Given the description of an element on the screen output the (x, y) to click on. 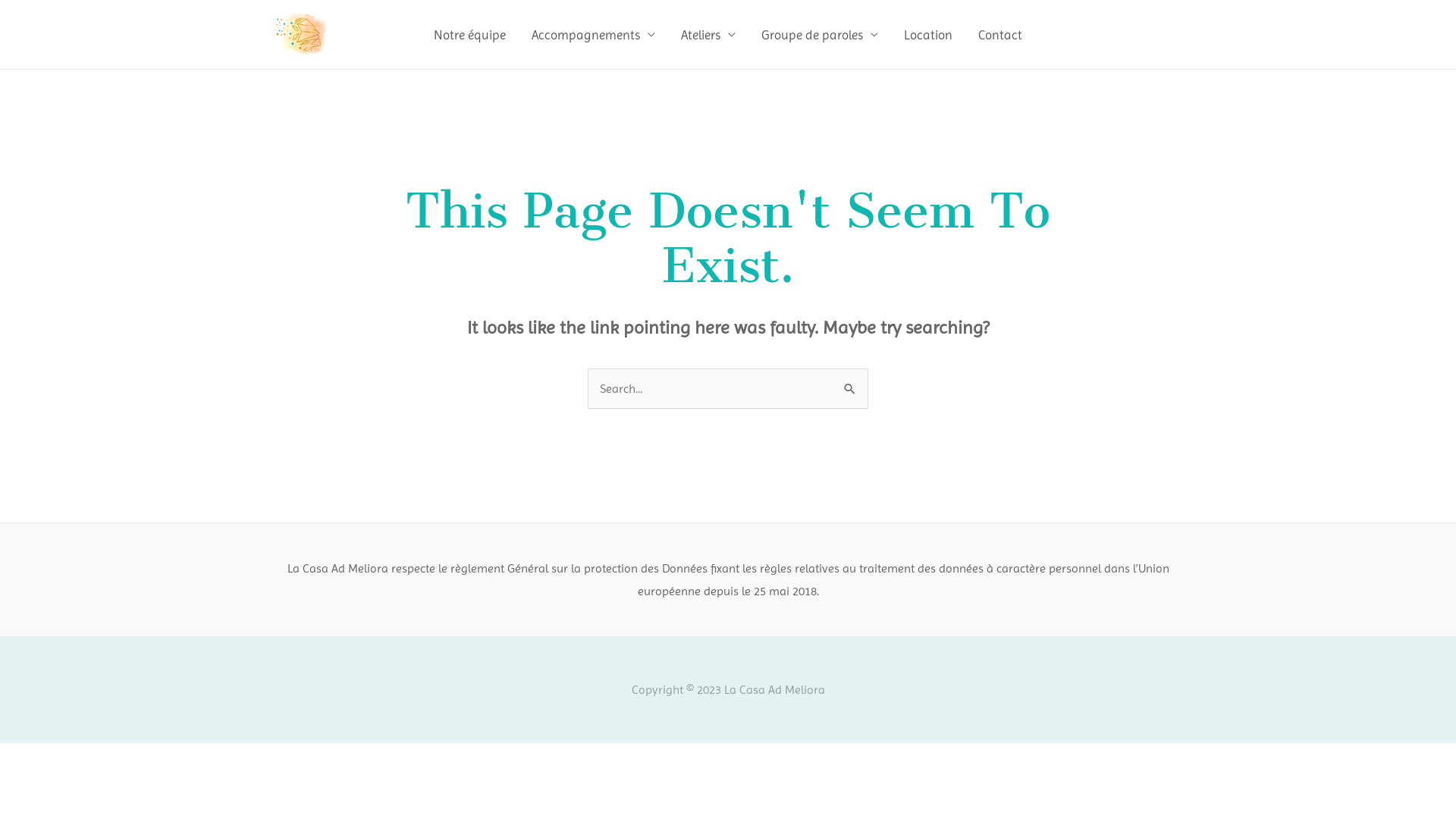
Search Element type: text (851, 384)
Location Element type: text (928, 34)
Contact Element type: text (1000, 34)
Groupe de paroles Element type: text (819, 34)
Accompagnements Element type: text (593, 34)
Ateliers Element type: text (708, 34)
